Given the description of an element on the screen output the (x, y) to click on. 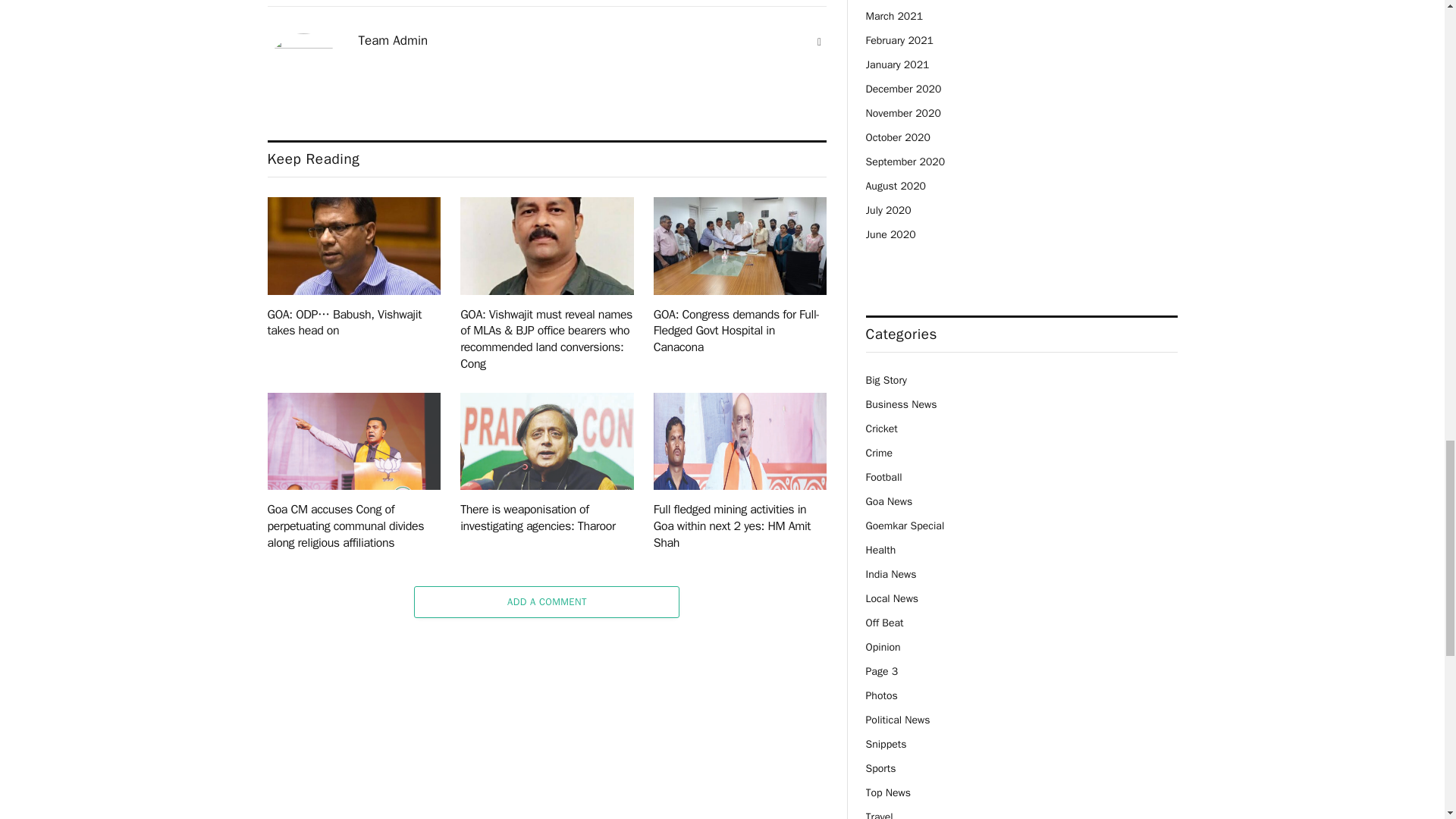
Website (818, 42)
Posts by Team Admin (393, 40)
